Given the description of an element on the screen output the (x, y) to click on. 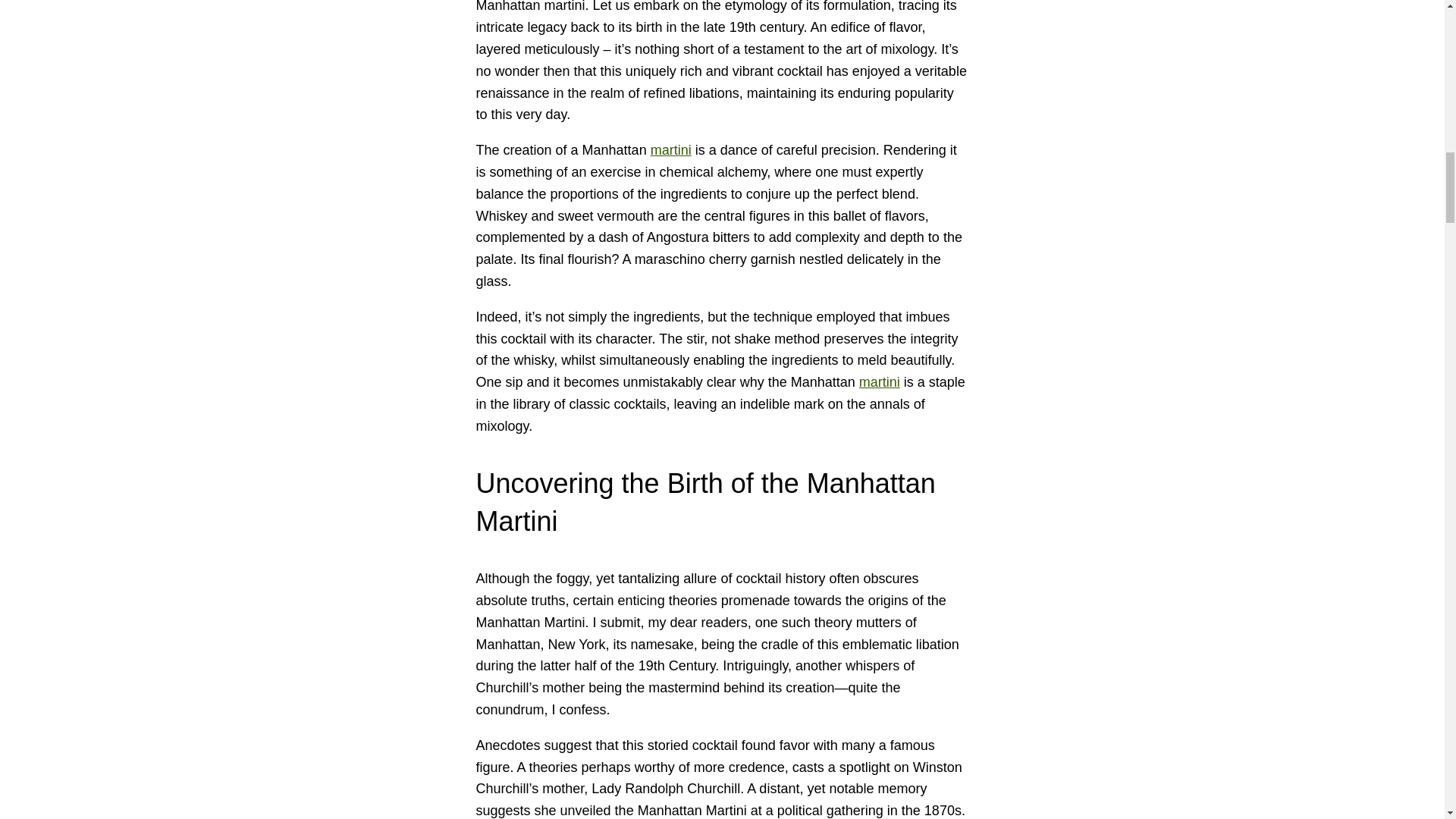
martini (879, 381)
martini (670, 150)
